Given the description of an element on the screen output the (x, y) to click on. 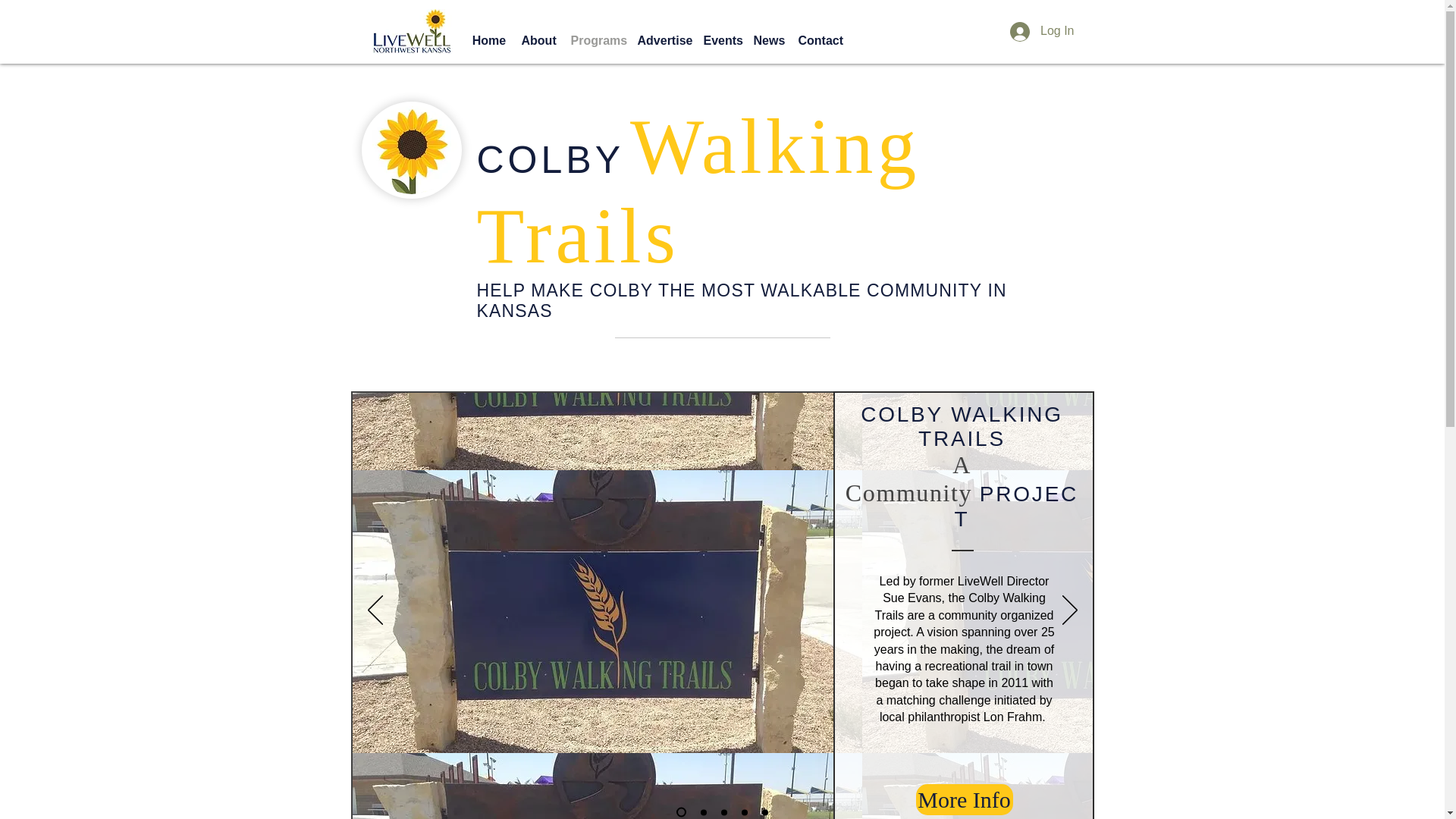
Home (488, 40)
News (767, 40)
About (538, 40)
Programs (595, 40)
Contact (818, 40)
Events (720, 40)
Log In (1041, 30)
Advertise (661, 40)
More Info (964, 798)
